Given the description of an element on the screen output the (x, y) to click on. 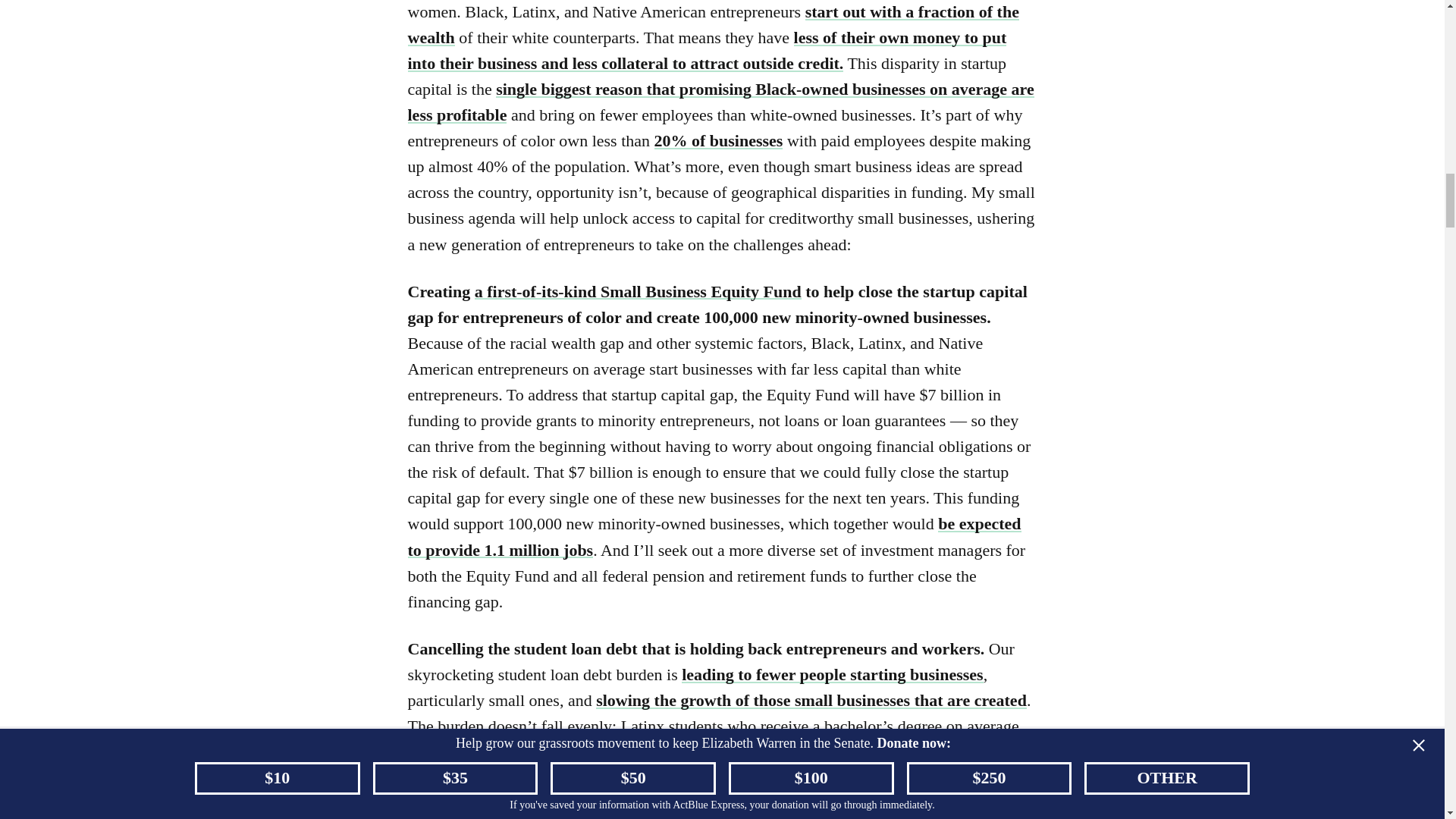
be expected to provide 1.1 million jobs (714, 536)
a first-of-its-kind Small Business Equity Fund (638, 291)
leading to fewer people starting businesses (831, 674)
start out with a fraction of the wealth (713, 24)
